Given the description of an element on the screen output the (x, y) to click on. 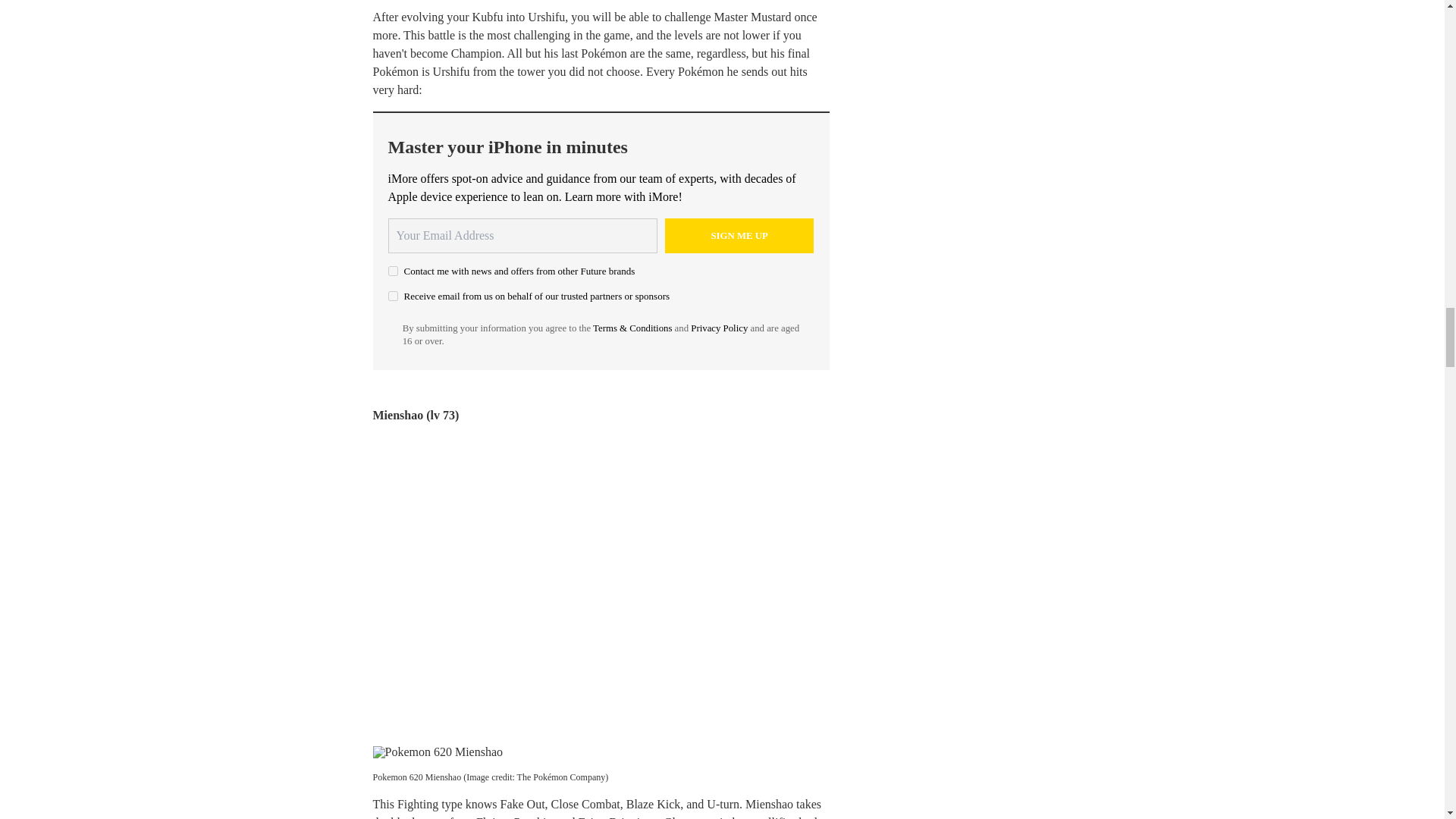
Sign me up (739, 235)
on (392, 271)
on (392, 296)
